Given the description of an element on the screen output the (x, y) to click on. 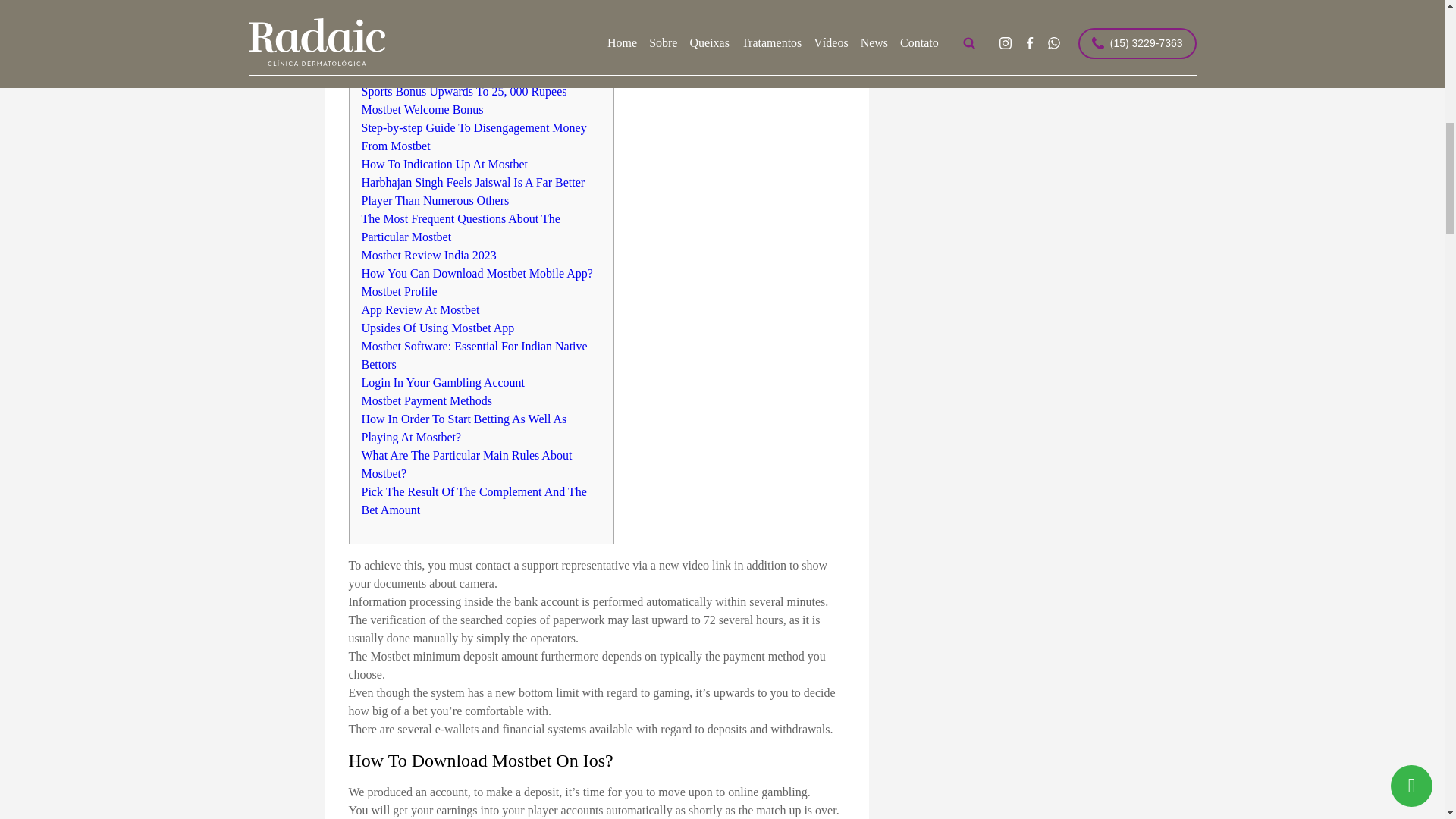
Mostbet Review India 2023 (428, 254)
The Most Frequent Questions About The Particular Mostbet (460, 227)
Bonus Deals And Promotions (433, 3)
Step-by-step Guide To Disengagement Money From Mostbet (473, 136)
Exactly How To Download Mostbet App For Ios (478, 54)
Mostbet Welcome Bonus (422, 109)
Sports Bonus Upwards To 25, 000 Rupees (463, 91)
Mostbet Wagering Markets And Types Of Bets Available (474, 27)
How To Indication Up At Mostbet (444, 164)
